Given the description of an element on the screen output the (x, y) to click on. 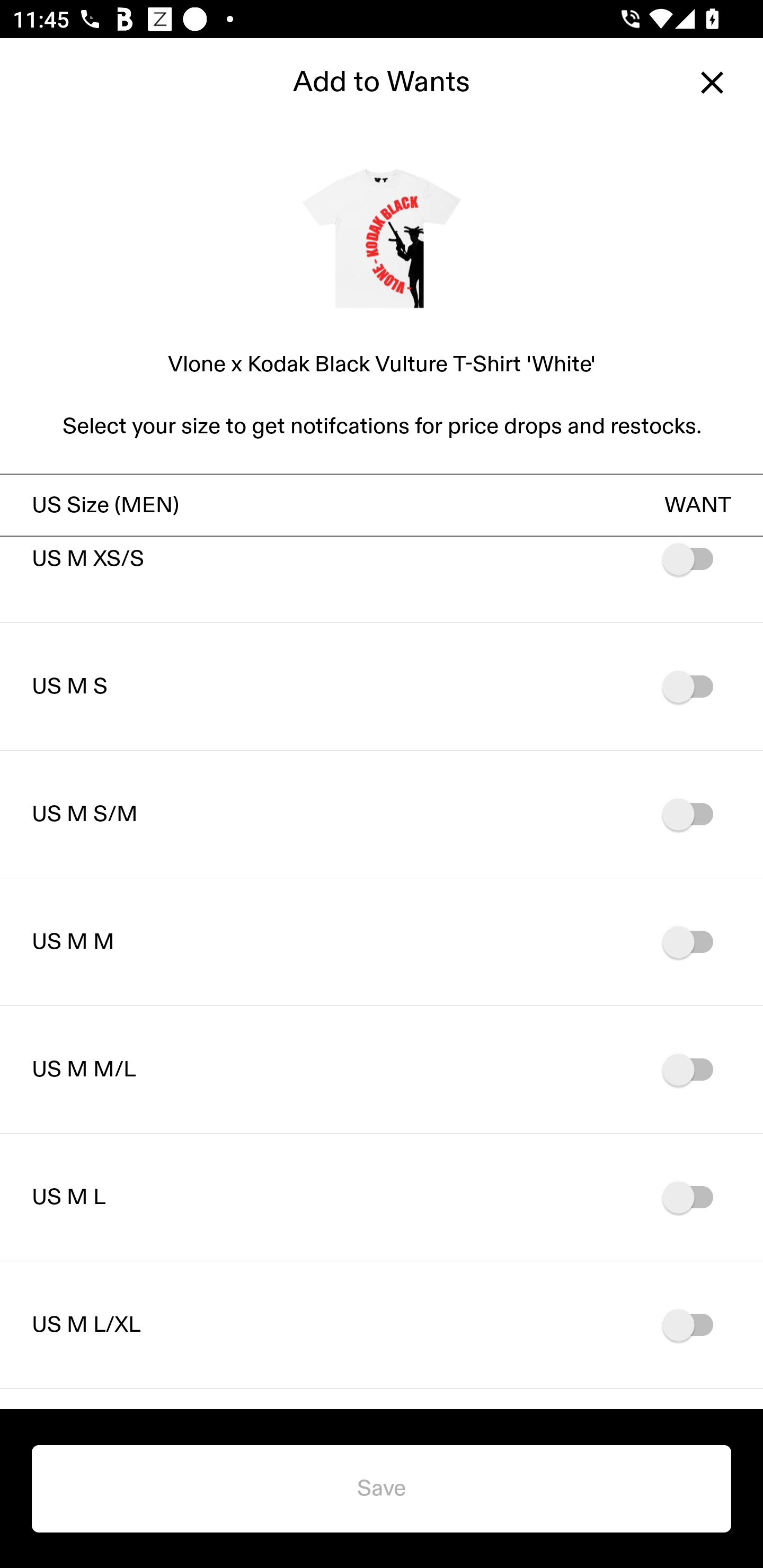
Save (381, 1488)
